Given the description of an element on the screen output the (x, y) to click on. 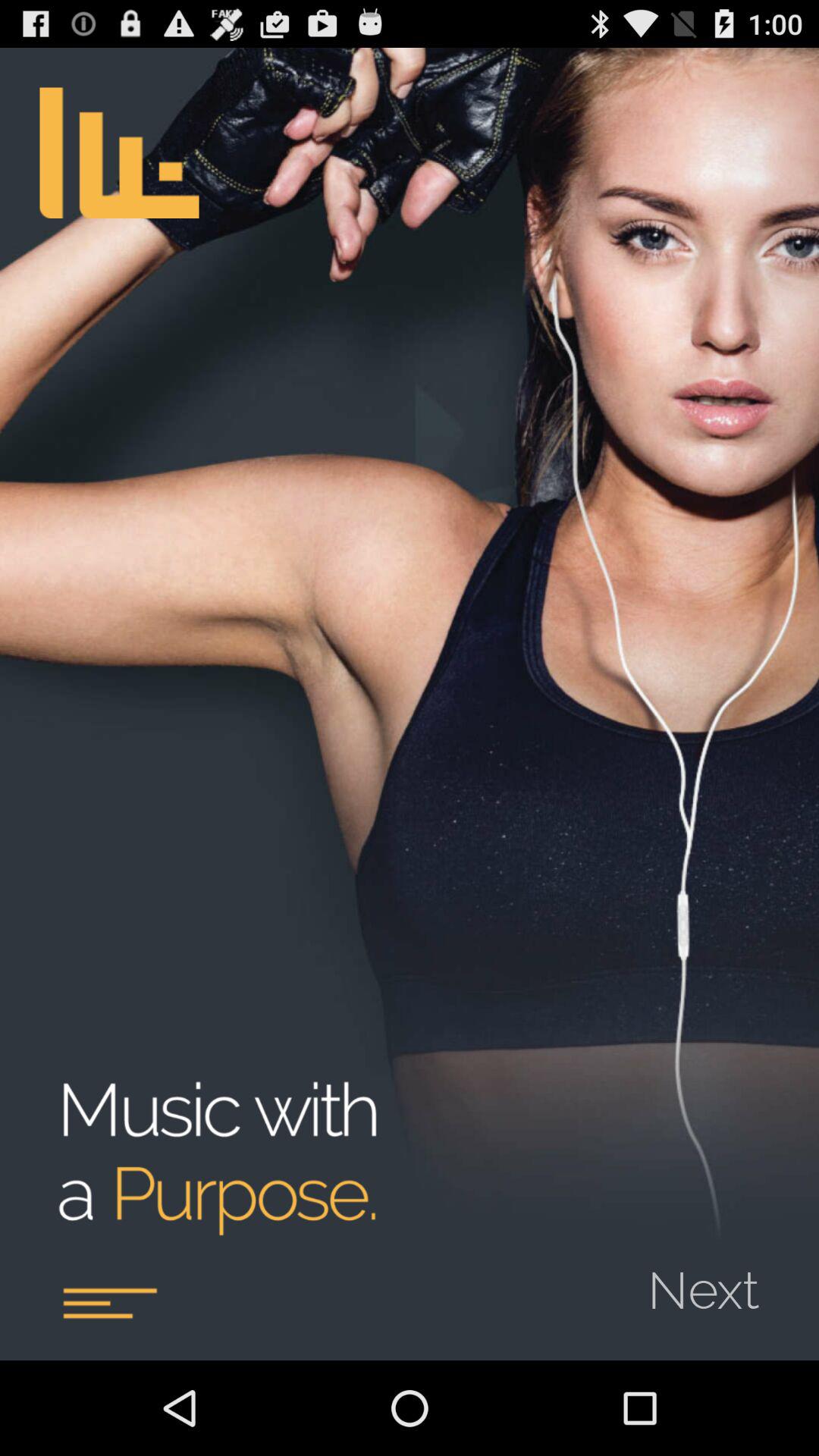
go to audio settings (109, 1302)
